Given the description of an element on the screen output the (x, y) to click on. 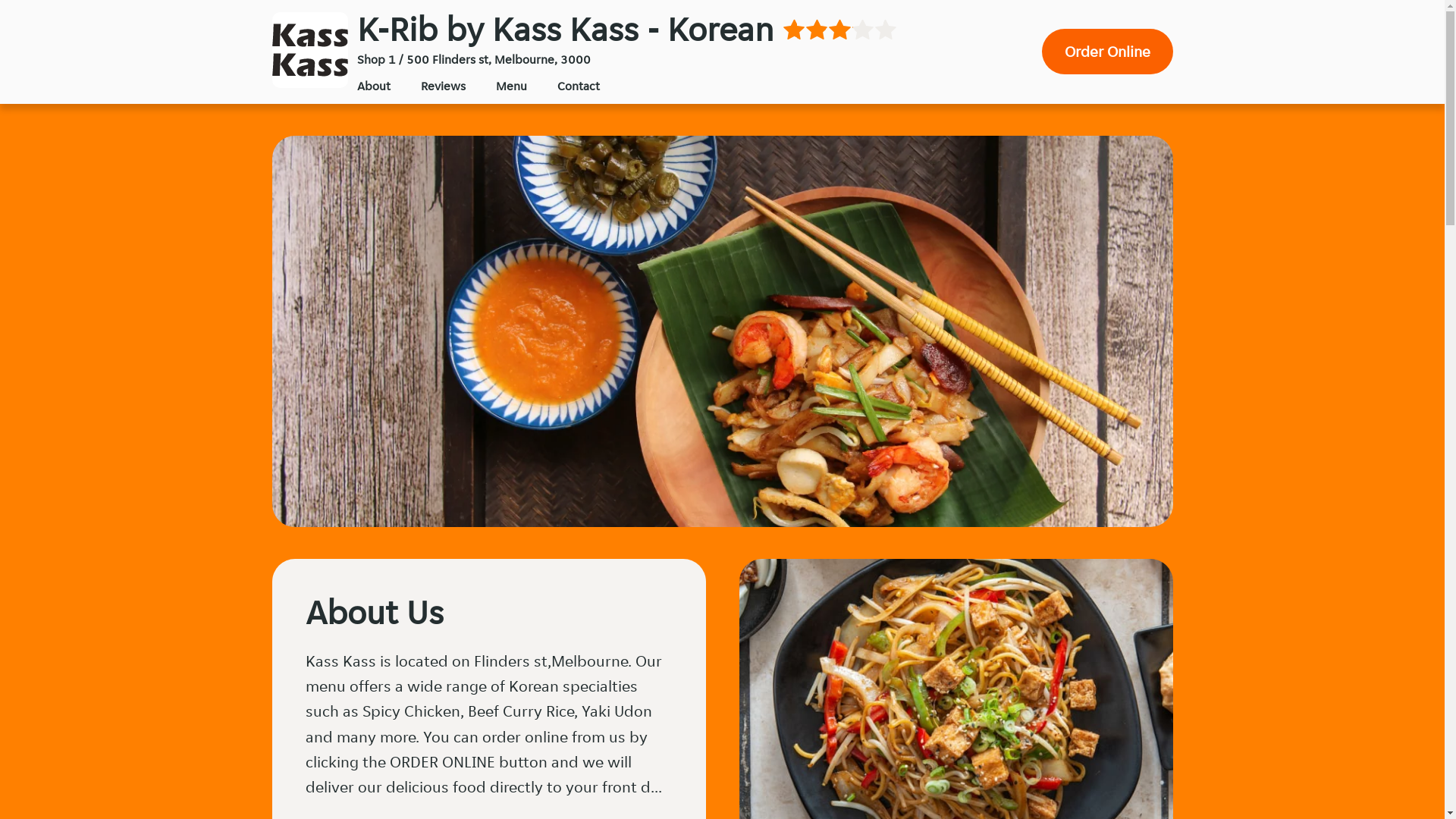
Menu Element type: text (511, 86)
Reviews Element type: text (442, 86)
K-Rib by Kass Kass Element type: hover (309, 49)
Contact Element type: text (577, 86)
About Element type: text (372, 86)
Order Online Element type: text (1107, 51)
